Given the description of an element on the screen output the (x, y) to click on. 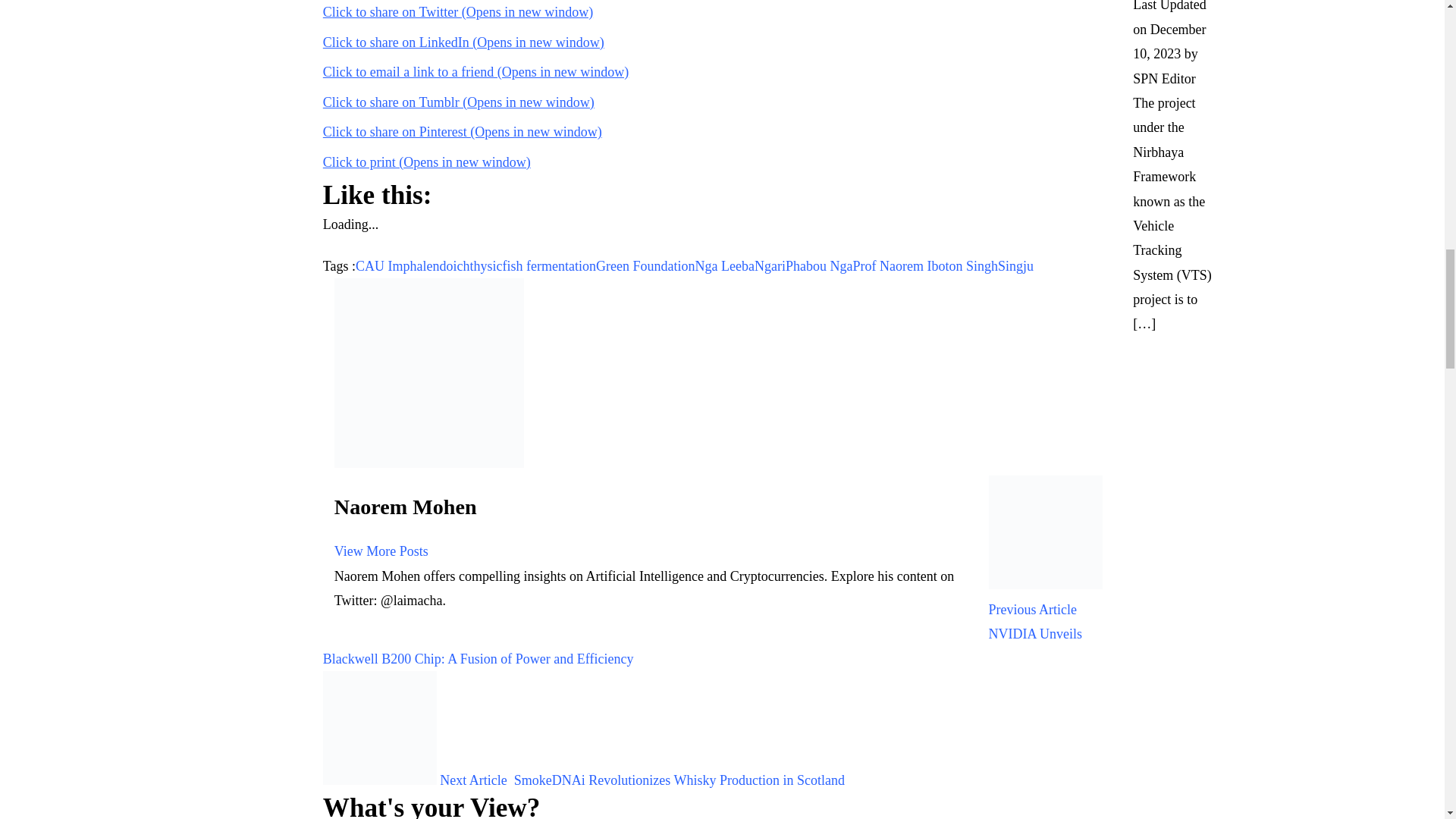
Click to share on Twitter (457, 11)
Click to share on LinkedIn (463, 42)
Click to email a link to a friend (475, 71)
Click to share on Tumblr (458, 102)
Click to print (427, 161)
Click to share on Pinterest (462, 131)
